Given the description of an element on the screen output the (x, y) to click on. 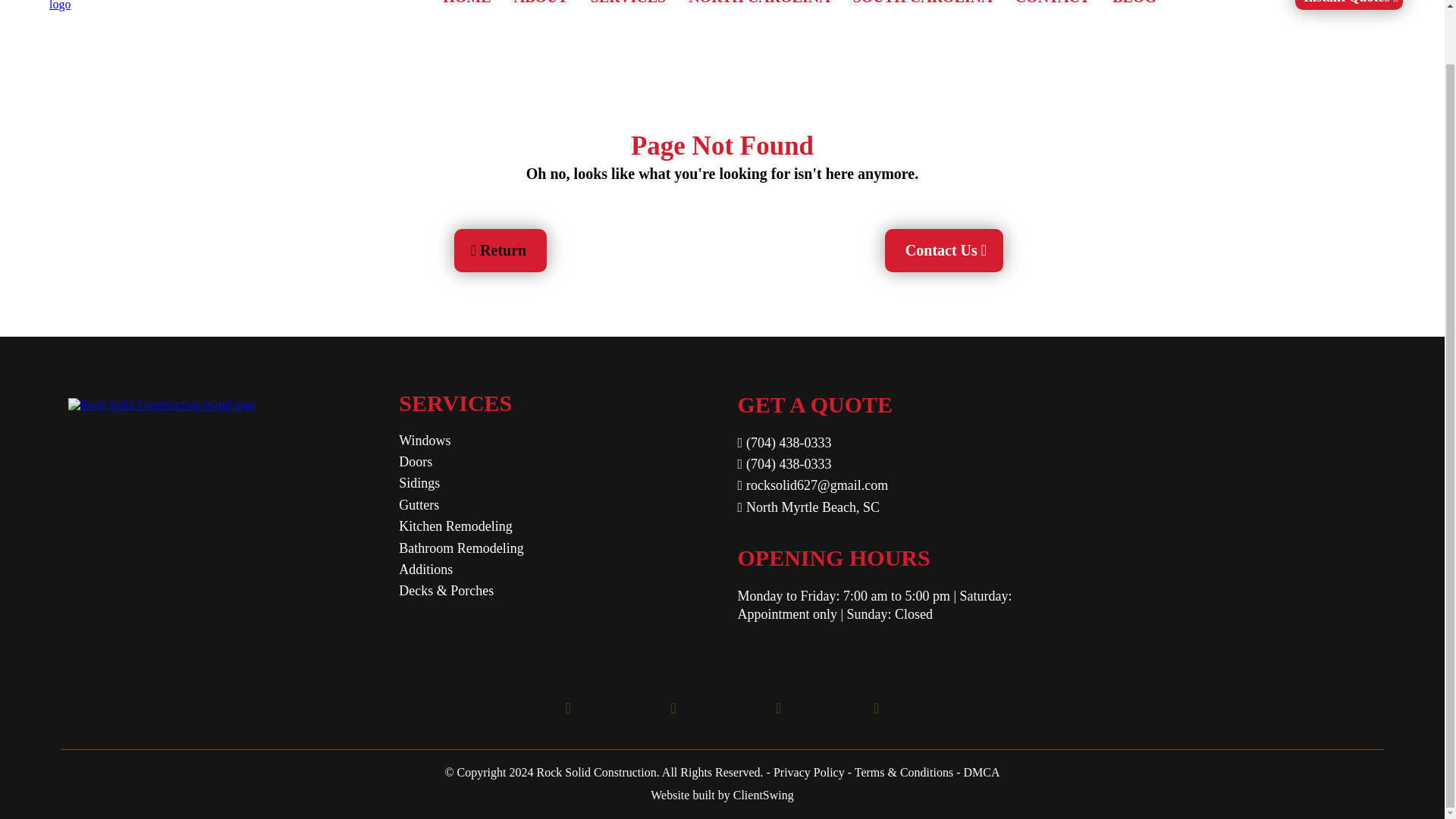
HOME (466, 8)
NORTH CAROLINA (759, 8)
ABOUT (540, 8)
CONTACT (1053, 8)
SOUTH CAROLINA (922, 8)
SERVICES (628, 8)
